Given the description of an element on the screen output the (x, y) to click on. 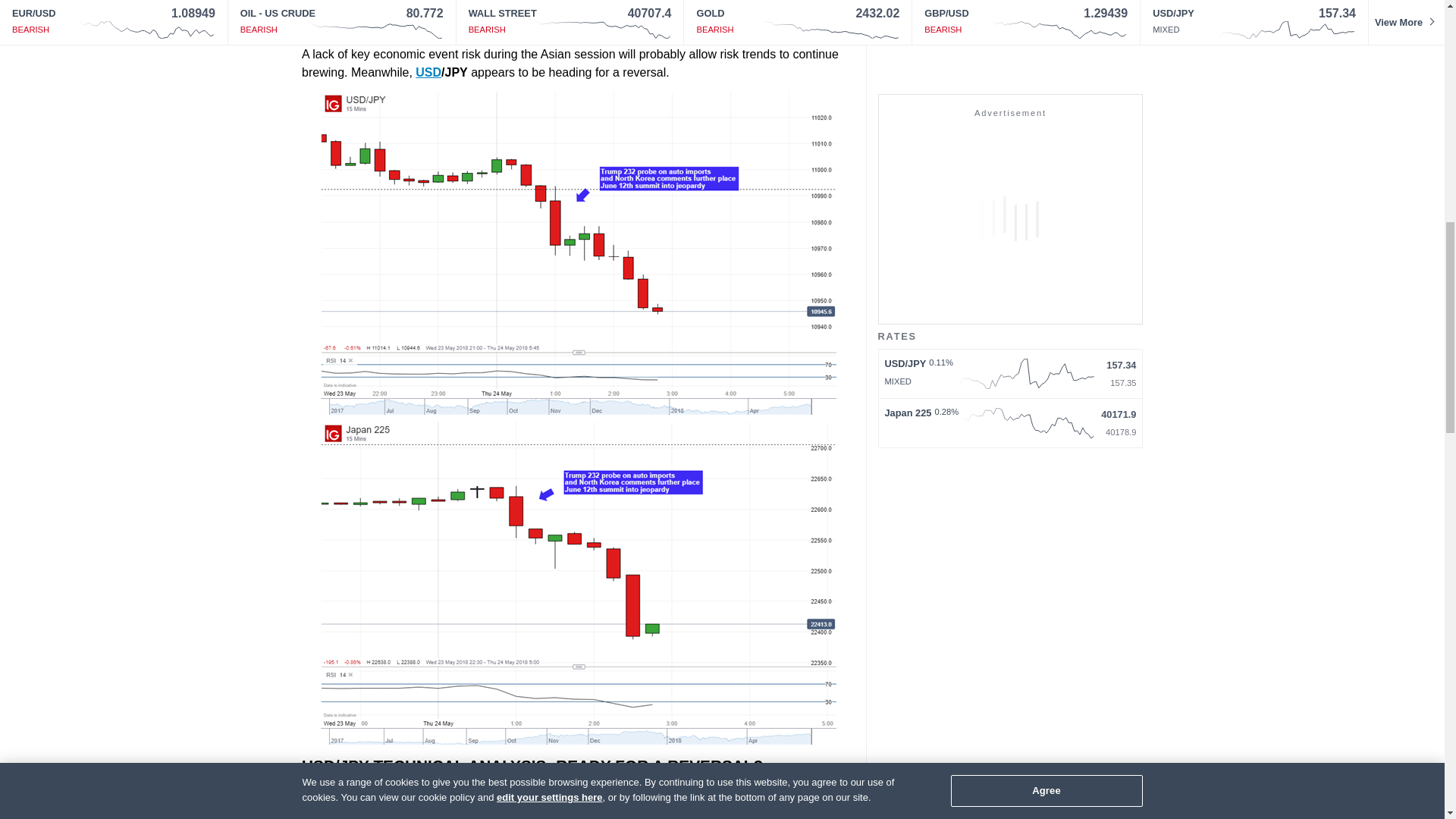
USD (427, 71)
